Given the description of an element on the screen output the (x, y) to click on. 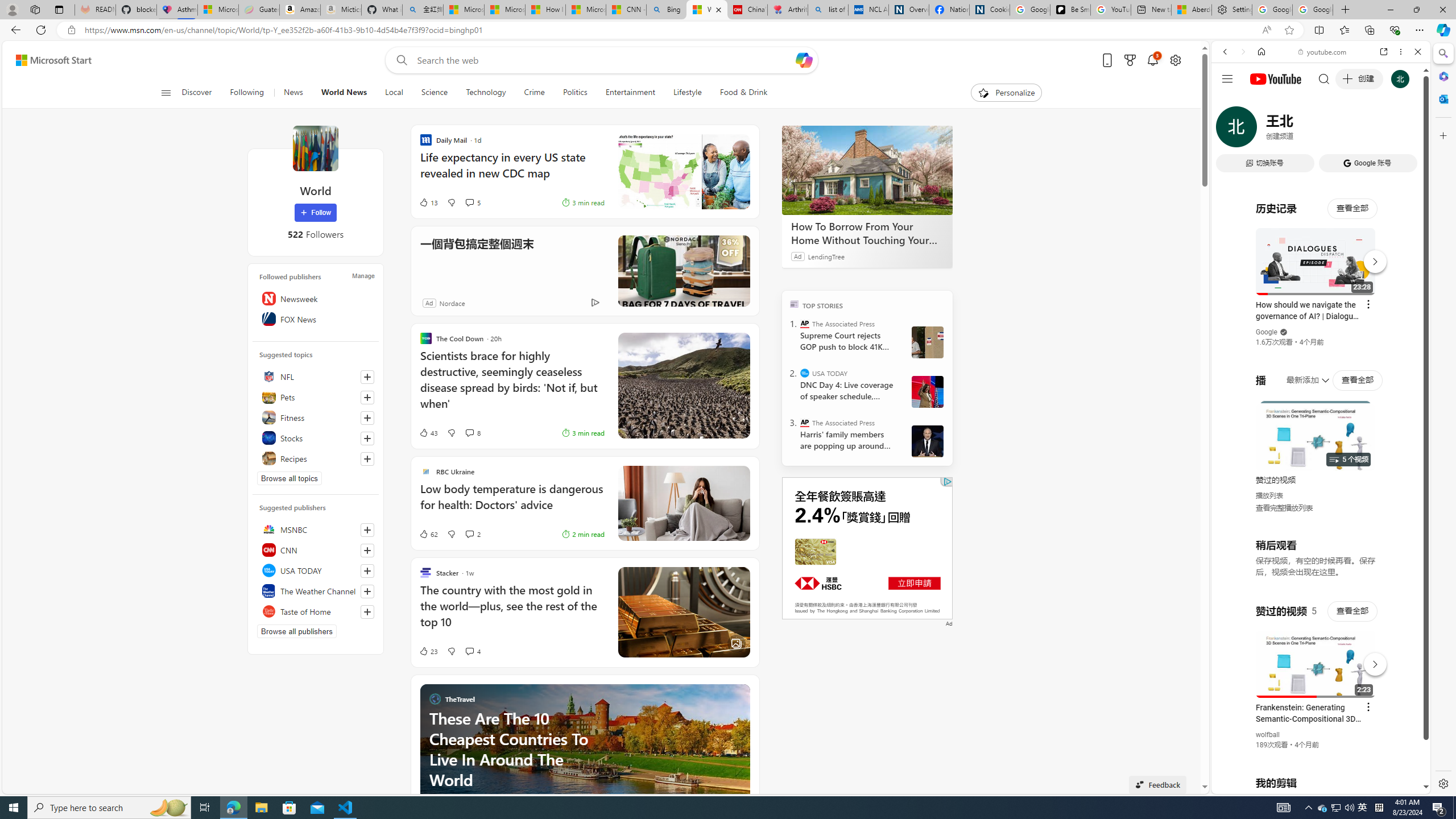
This site scope (1259, 102)
Skip to footer (46, 59)
Life expectancy in every US state revealed in new CDC map (683, 171)
Browse all publishers (296, 631)
View comments 2 Comment (469, 533)
Aberdeen, Hong Kong SAR hourly forecast | Microsoft Weather (1191, 9)
